Given the description of an element on the screen output the (x, y) to click on. 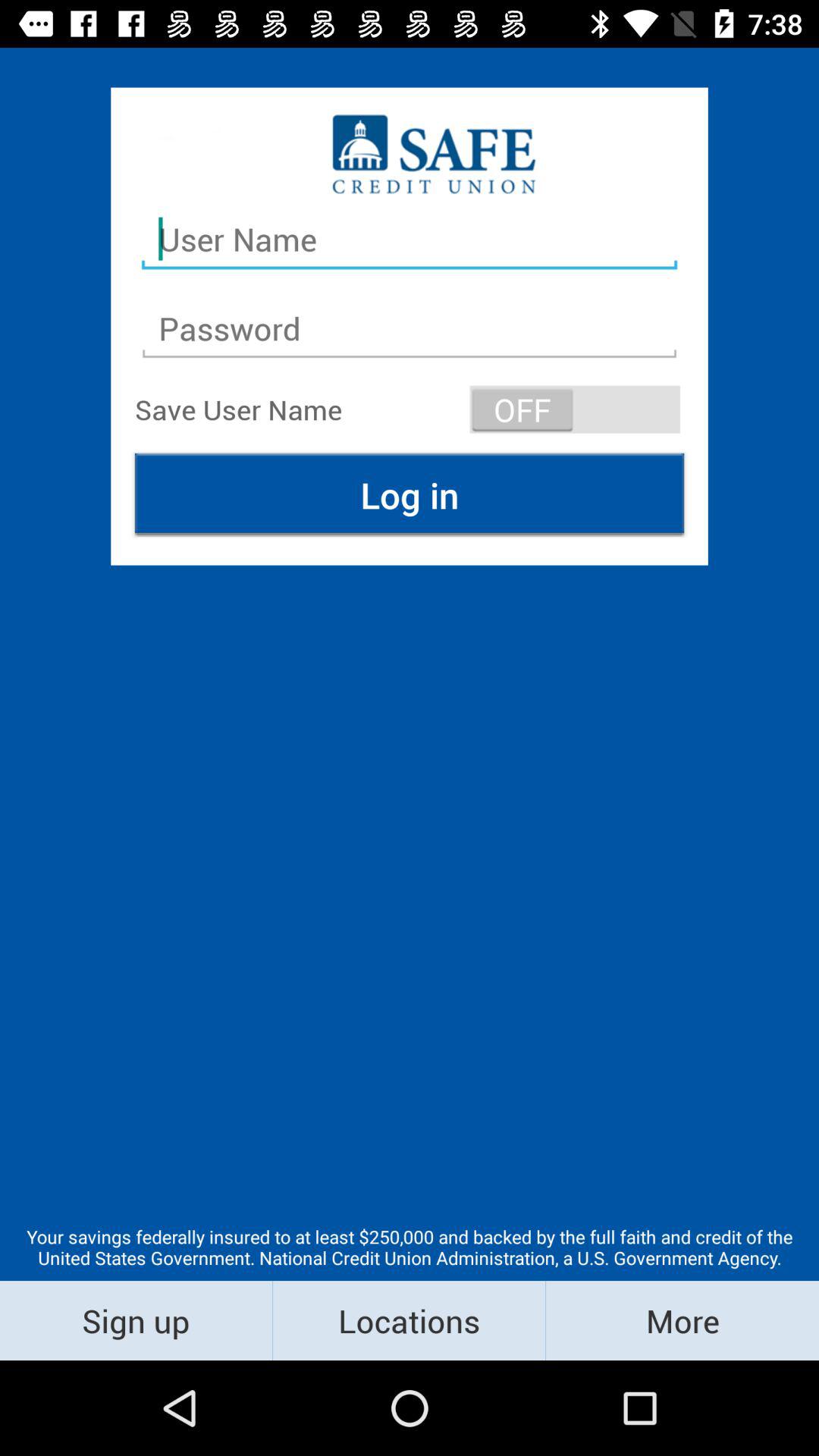
turn off icon below your savings federally item (409, 1320)
